Given the description of an element on the screen output the (x, y) to click on. 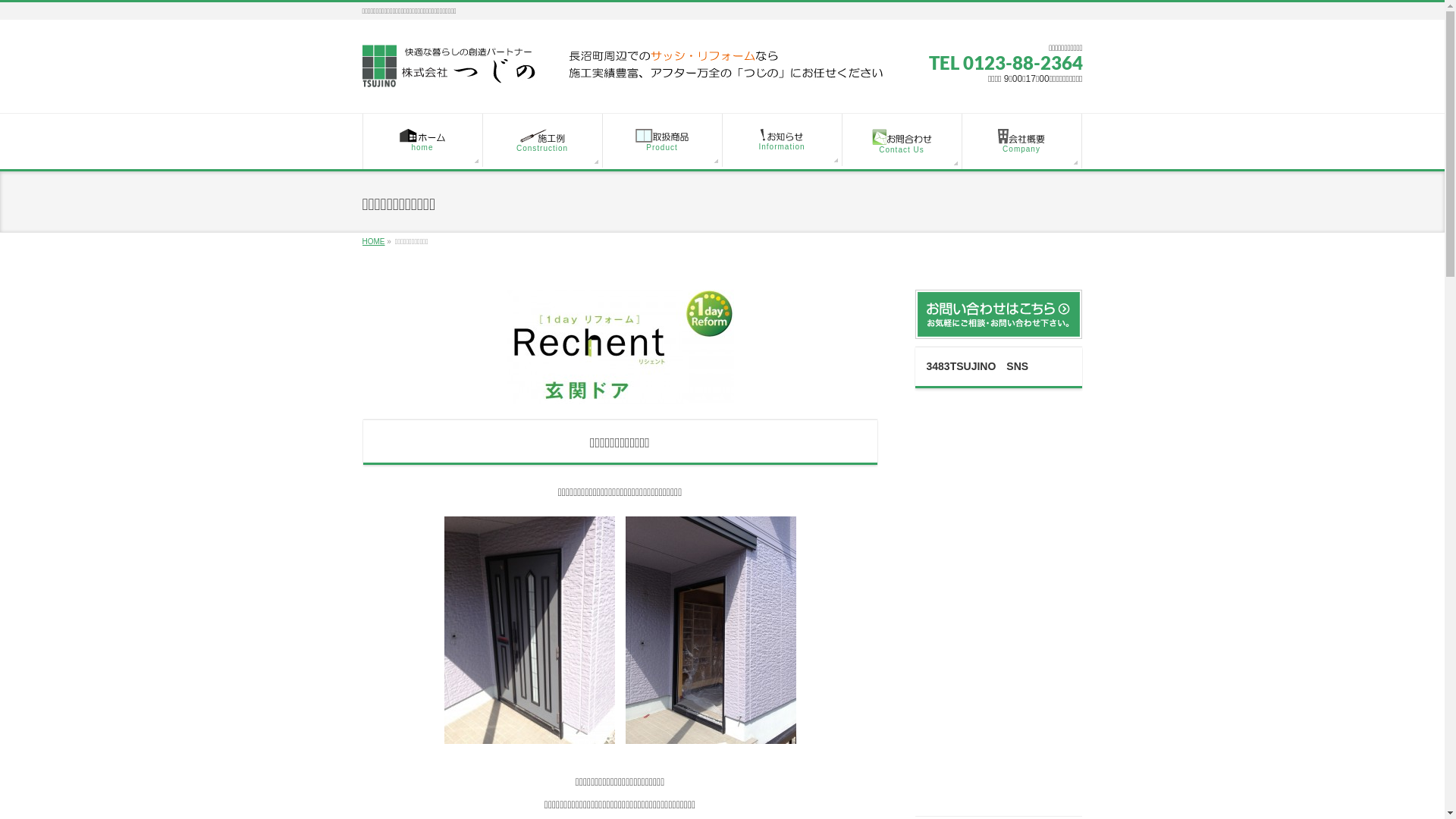
home Element type: text (422, 139)
Product Element type: text (661, 139)
Information Element type: text (781, 139)
home
Construction
Product
Information
Contact Us
Company Element type: text (722, 141)
Contact Us Element type: text (901, 141)
Construction Element type: text (542, 140)
HOME Element type: text (373, 241)
Company Element type: text (1021, 140)
